Given the description of an element on the screen output the (x, y) to click on. 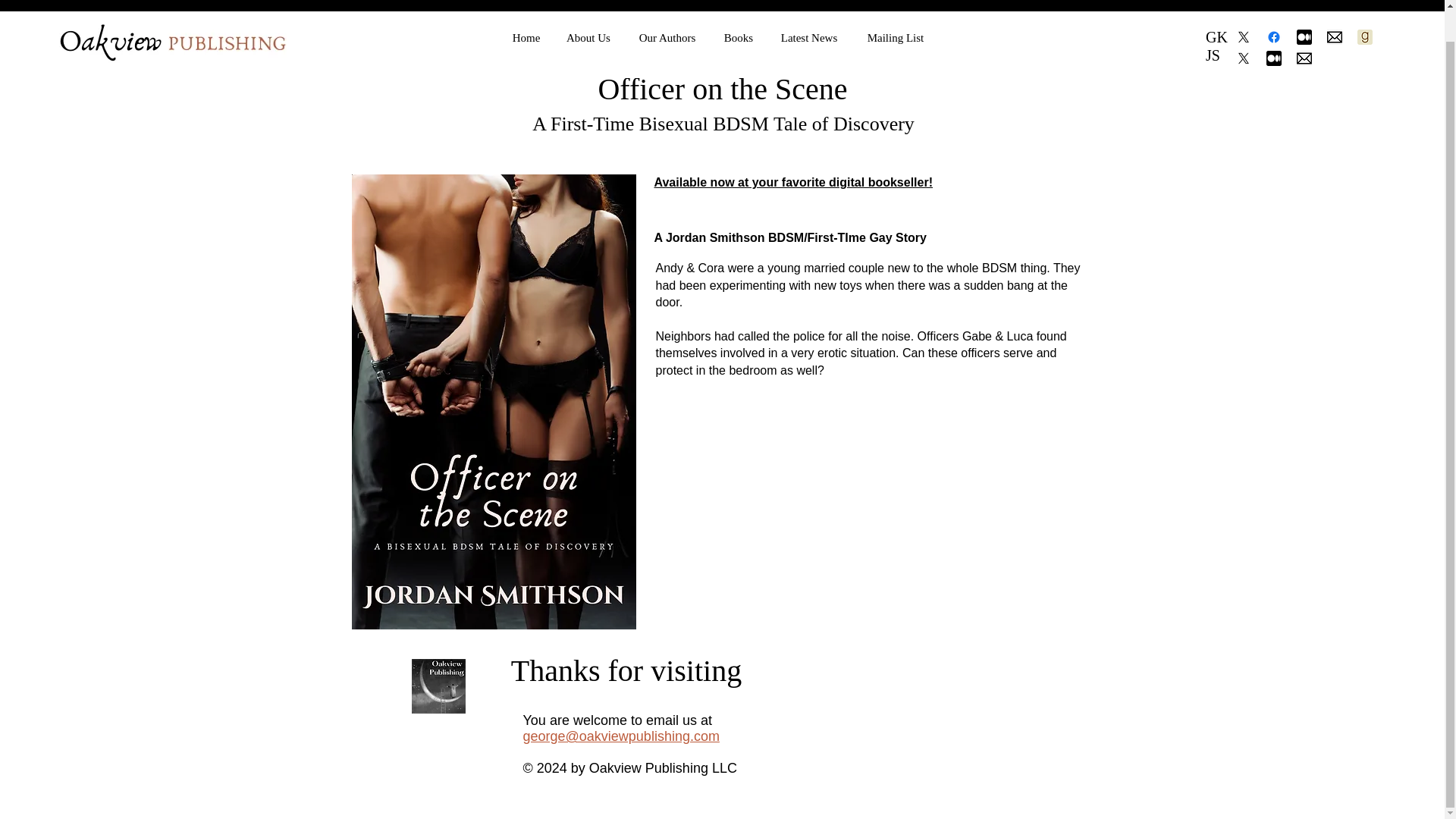
Available now at your favorite digital bookseller! (793, 182)
Home (526, 6)
Mailing List (895, 6)
Latest News (808, 6)
Our Authors (667, 6)
Officer on the Scene BL.jpg (494, 401)
About Us (588, 6)
Books (738, 6)
